Given the description of an element on the screen output the (x, y) to click on. 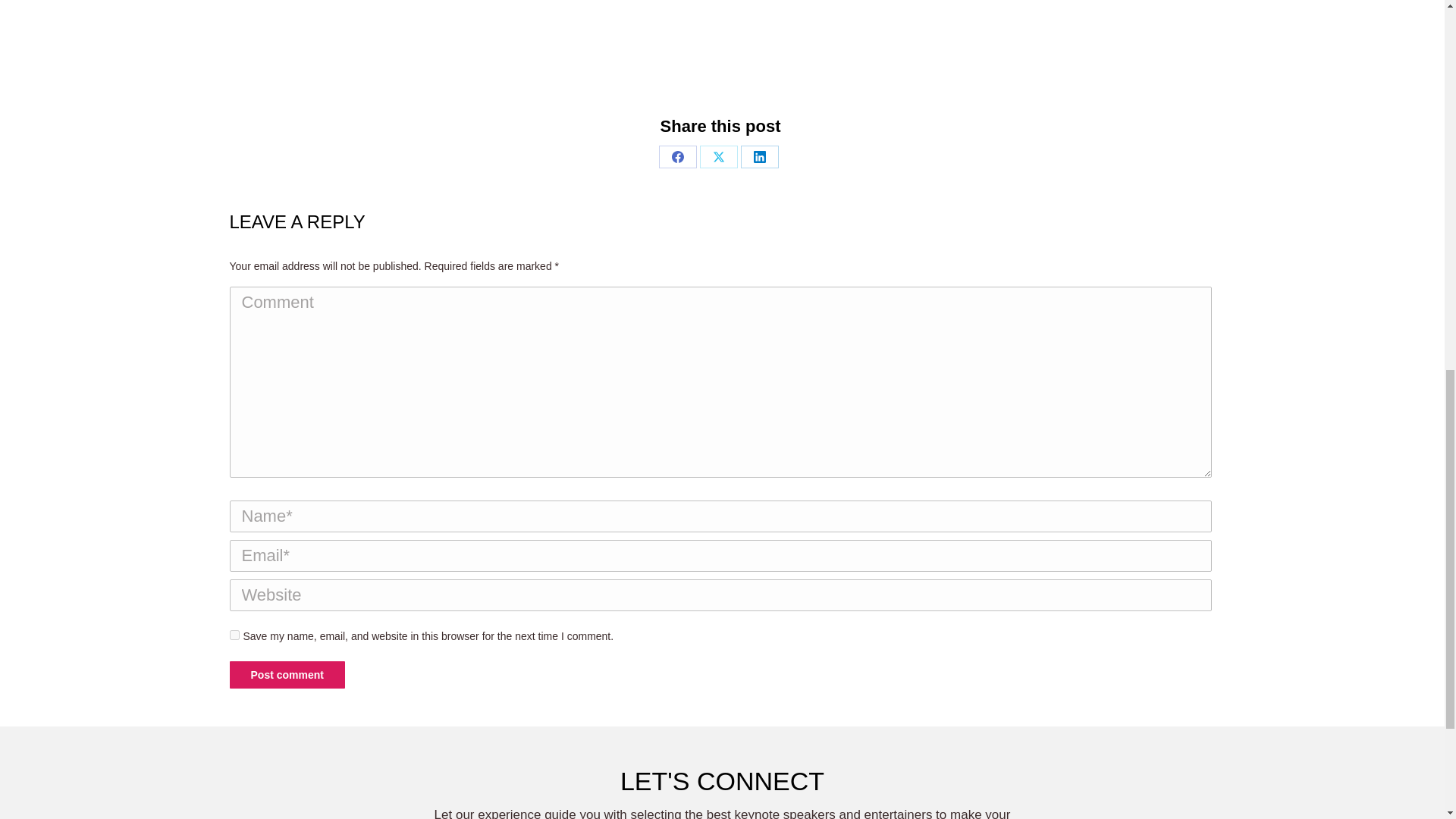
X (719, 156)
LinkedIn (759, 156)
yes (233, 634)
Facebook (678, 156)
